Given the description of an element on the screen output the (x, y) to click on. 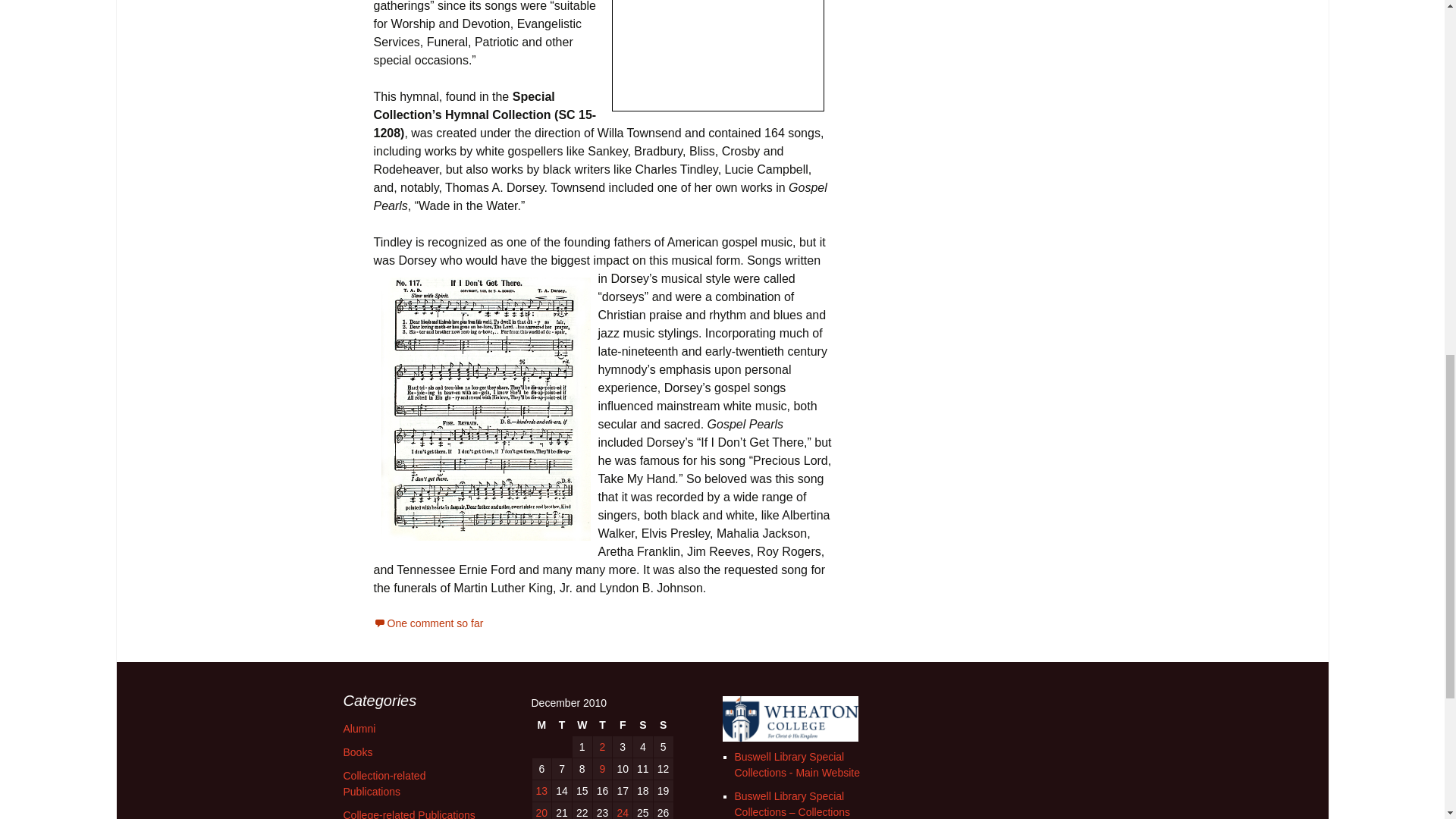
20 (541, 810)
Wednesday (582, 724)
Buswell Library Special Collections - Main Website (796, 764)
24 (621, 810)
Monday (541, 724)
Collection-related Publications (383, 783)
13 (541, 790)
Sunday (662, 724)
Books (357, 752)
Alumni (358, 728)
Saturday (642, 724)
Friday (621, 724)
2 (602, 746)
Thursday (602, 724)
Tuesday (561, 724)
